Given the description of an element on the screen output the (x, y) to click on. 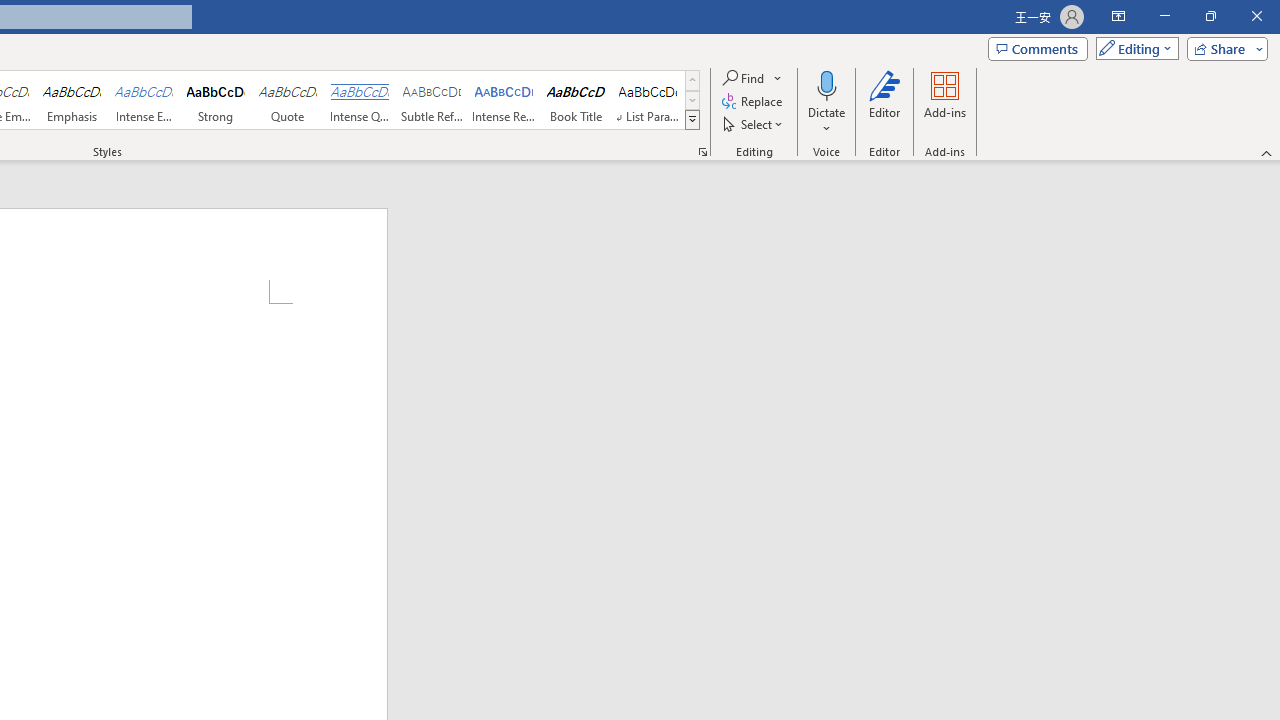
Book Title (575, 100)
